Given the description of an element on the screen output the (x, y) to click on. 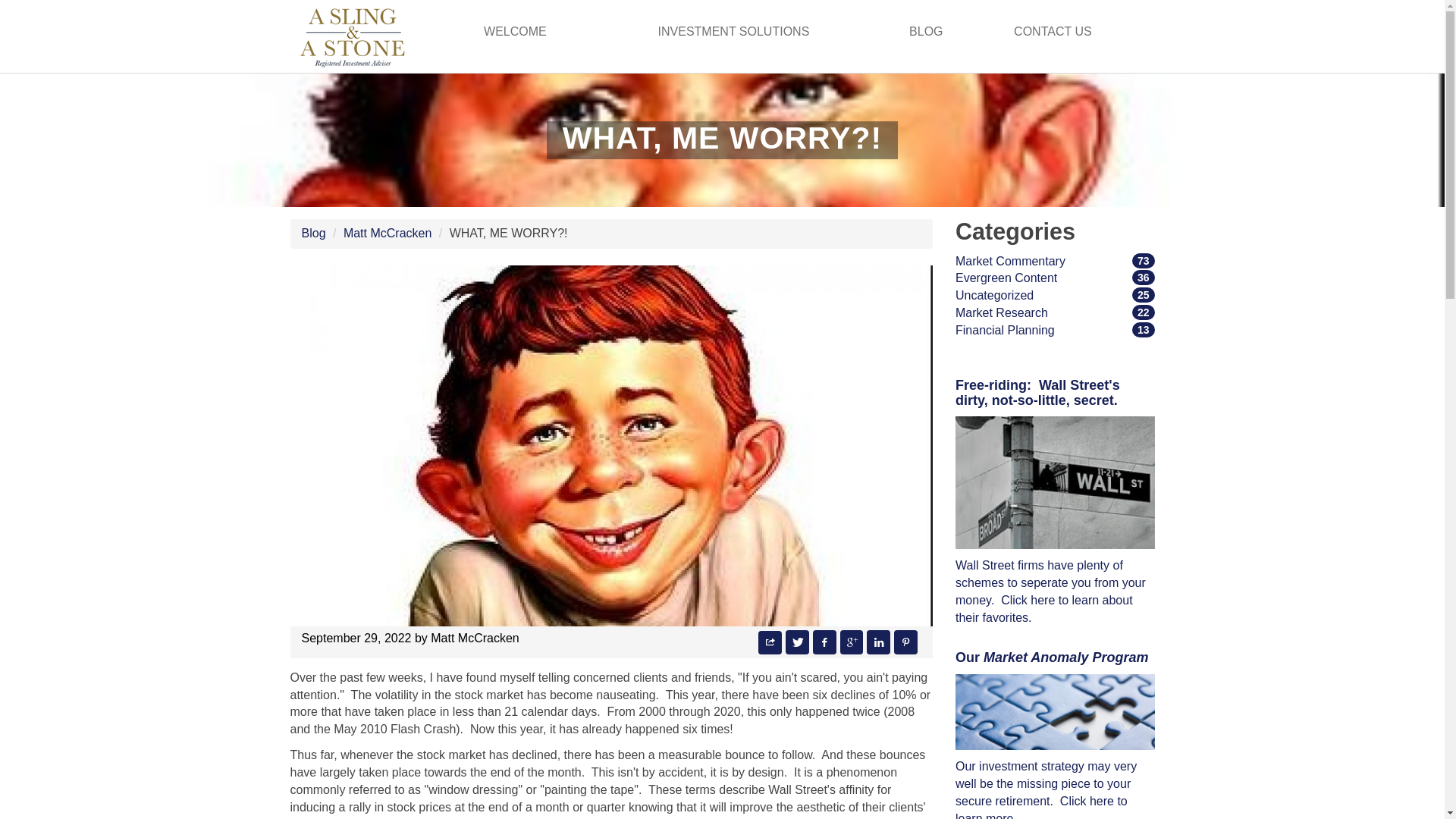
WELCOME (515, 31)
Home (1006, 277)
CONTACT US (353, 36)
INVESTMENT SOLUTIONS (1052, 31)
Missing puzzle piece (733, 31)
BLOG (1054, 712)
Matt McCracken (925, 31)
Blog (386, 232)
Skip to main content (313, 232)
Wall Street Street sign (1010, 260)
